Given the description of an element on the screen output the (x, y) to click on. 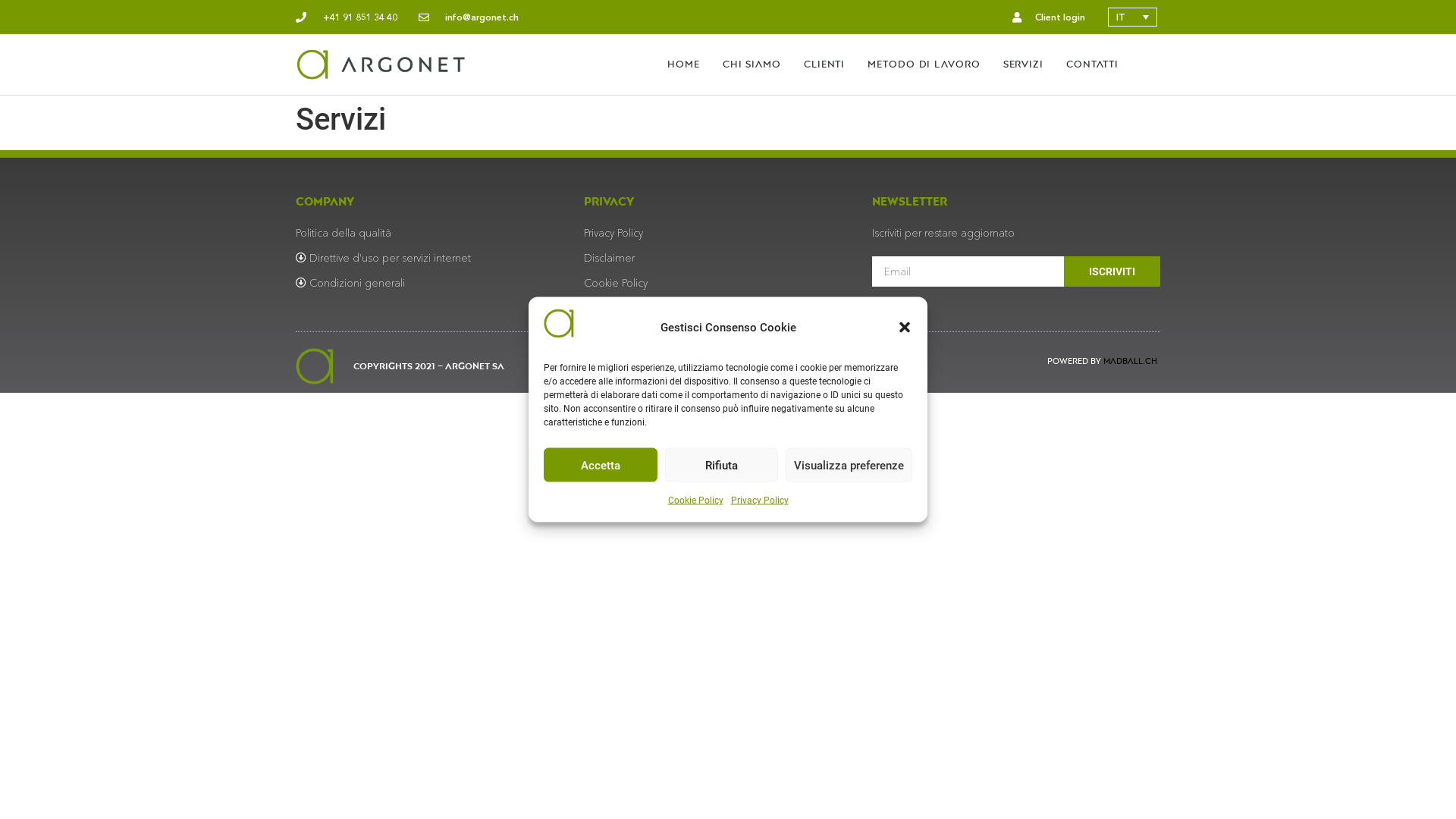
Client login Element type: text (1046, 16)
ISCRIVITI Element type: text (1111, 271)
Visualizza preferenze Element type: text (848, 464)
Rifiuta Element type: text (721, 464)
Chi siamo Element type: text (751, 64)
Cookie Policy Element type: text (615, 282)
Clienti Element type: text (824, 64)
info@argonet.ch Element type: text (468, 16)
Condizioni generali Element type: text (349, 282)
Privacy Policy Element type: text (613, 232)
Home Element type: text (683, 64)
Direttive d'uso per servizi internet Element type: text (382, 257)
Privacy Policy Element type: text (759, 500)
Contatti Element type: text (1091, 64)
Cookie Policy Element type: text (694, 500)
madball.ch Element type: text (1130, 360)
Servizi Element type: text (1022, 64)
Metodo di lavoro Element type: text (923, 64)
IT Element type: text (1132, 16)
Disclaimer Element type: text (608, 257)
Accetta Element type: text (600, 464)
